Given the description of an element on the screen output the (x, y) to click on. 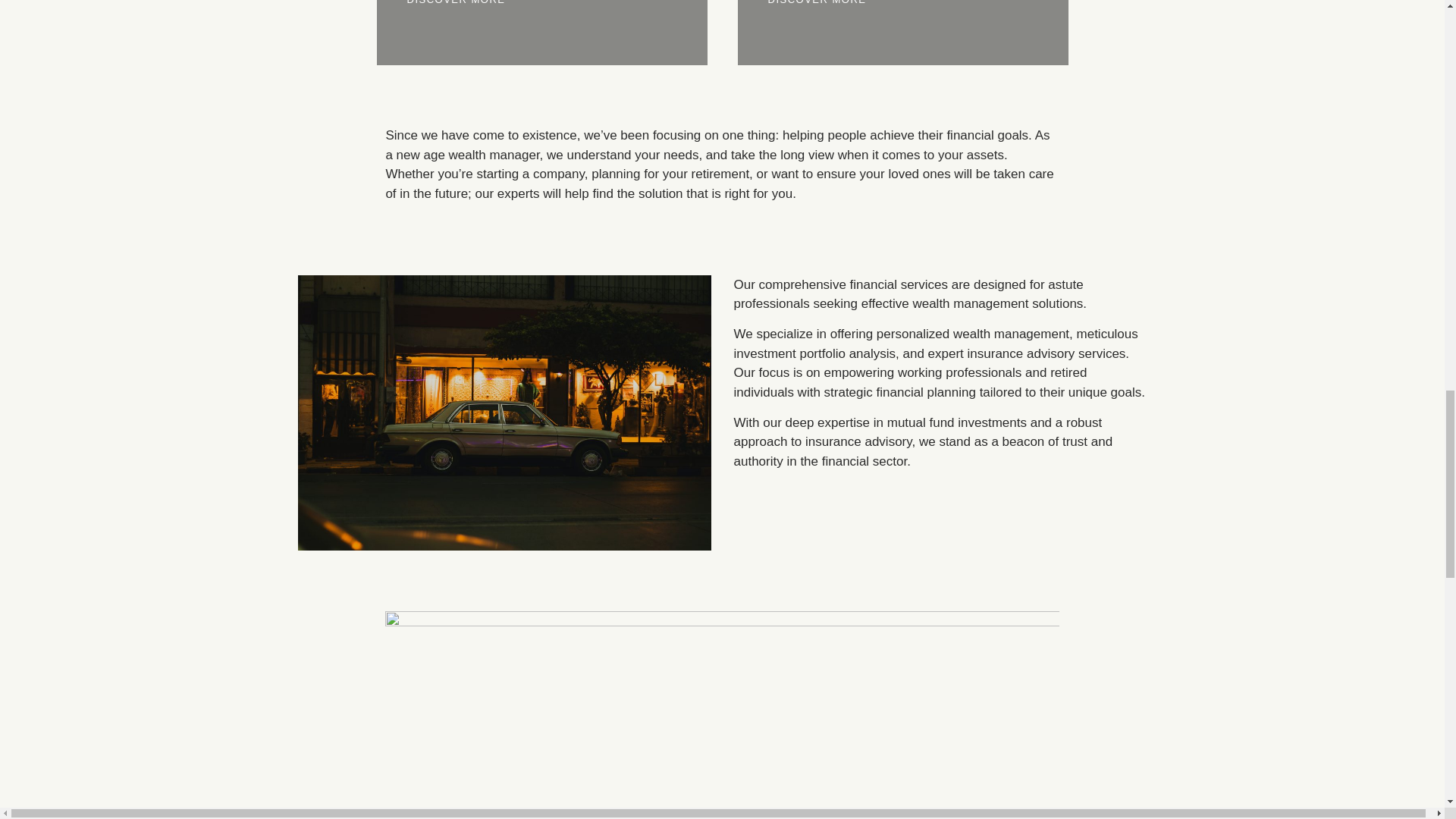
DISCOVER MORE (817, 4)
DISCOVER MORE (456, 4)
